Given the description of an element on the screen output the (x, y) to click on. 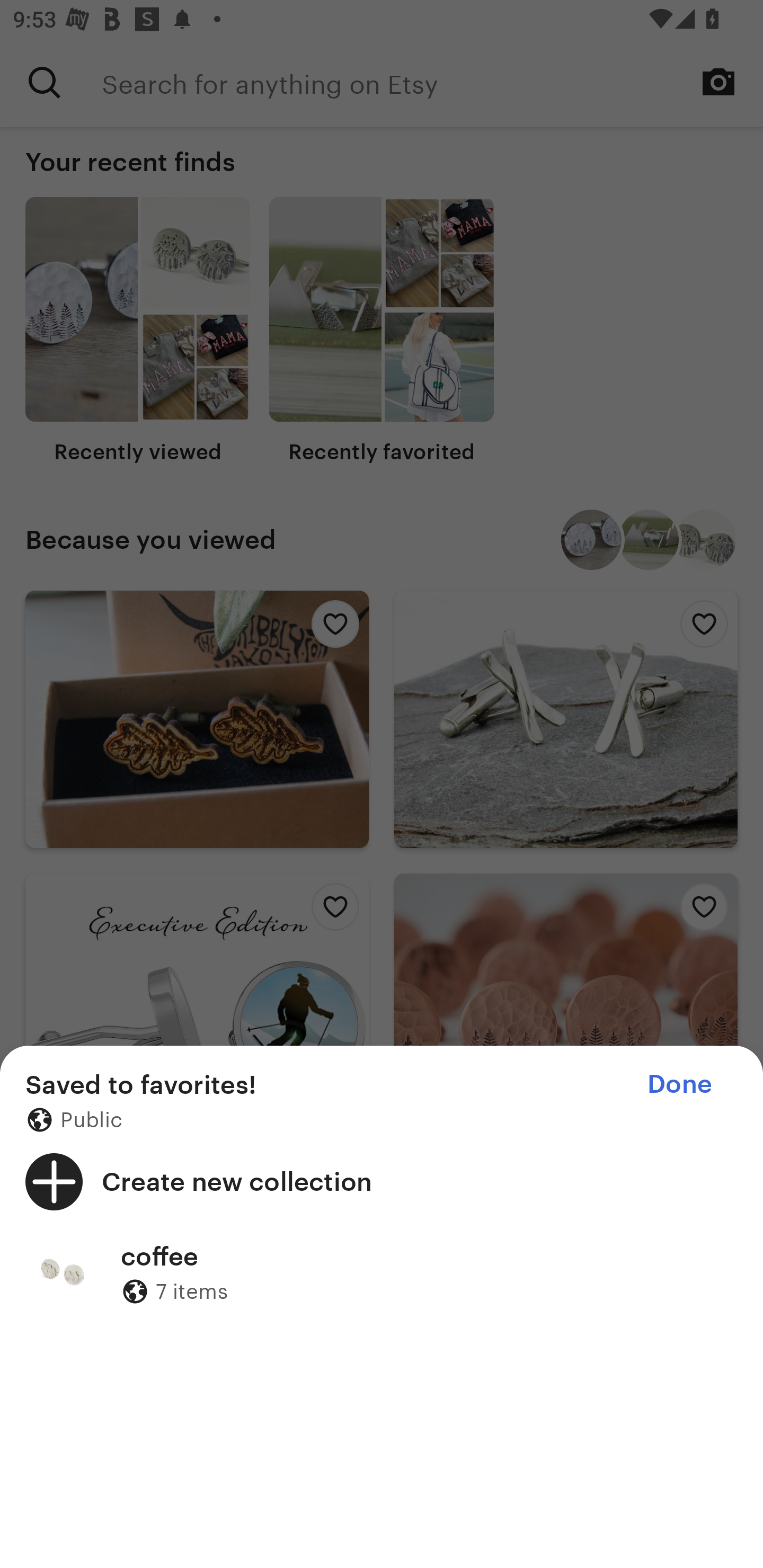
Done (679, 1083)
Create new collection (381, 1181)
coffee 7 items (381, 1273)
